Given the description of an element on the screen output the (x, y) to click on. 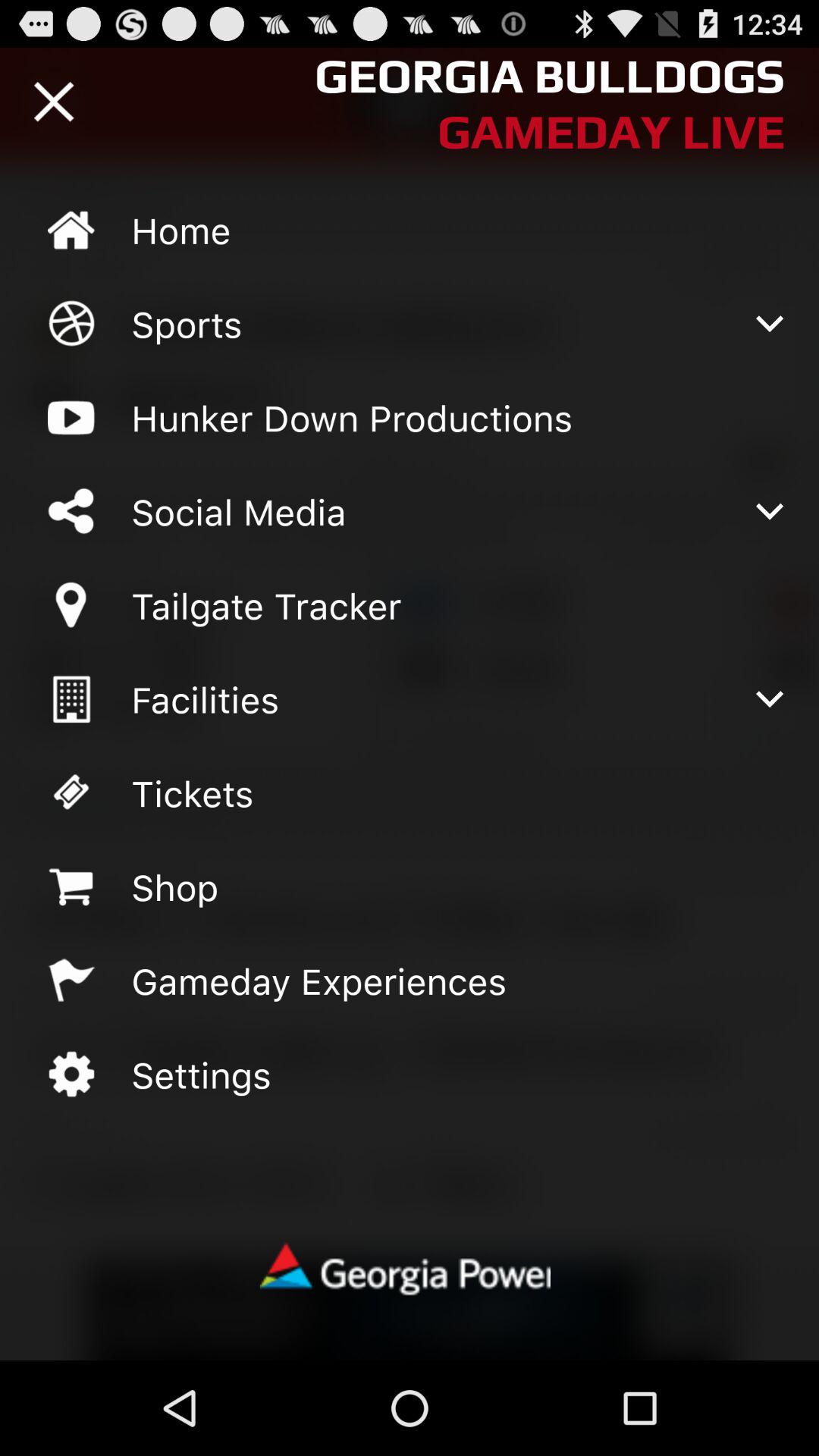
click to close option (54, 101)
